Given the description of an element on the screen output the (x, y) to click on. 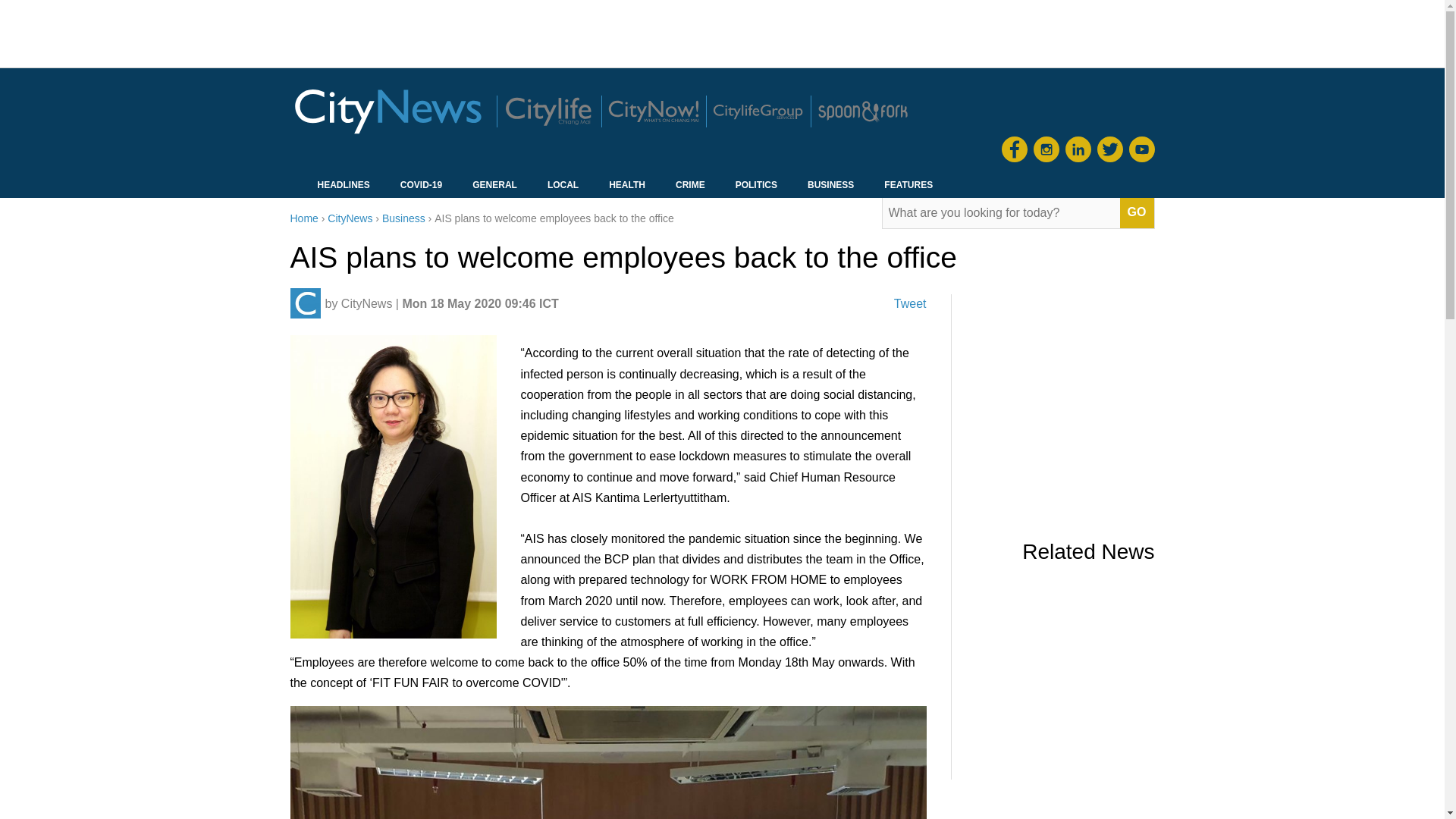
Go (1136, 213)
GENERAL (494, 186)
FEATURES (908, 186)
BUSINESS (830, 186)
Citylife Group Services (757, 111)
Go (1136, 213)
CRIME (690, 186)
HEADLINES (342, 186)
Go (1136, 213)
